Given the description of an element on the screen output the (x, y) to click on. 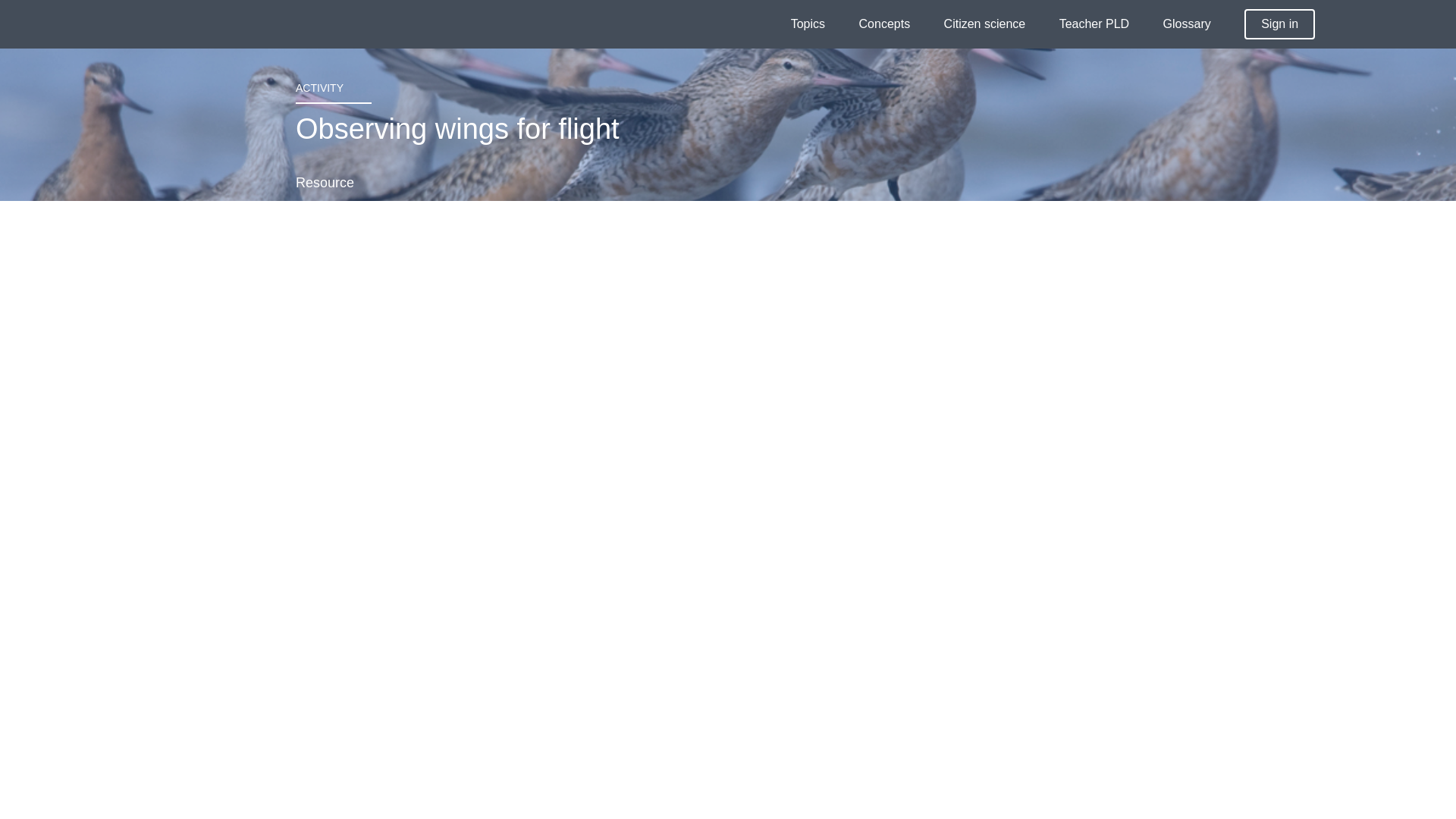
Citizen science projects with curriculum links (984, 24)
Teacher PLD (1094, 24)
Concepts (885, 24)
Important science ideas (885, 24)
Webinars, planning ideas and education research (1094, 24)
Science terms and definitions (1187, 24)
Glossary (1187, 24)
Sign in (1279, 24)
Citizen science (984, 24)
Search our resources (1402, 26)
